Given the description of an element on the screen output the (x, y) to click on. 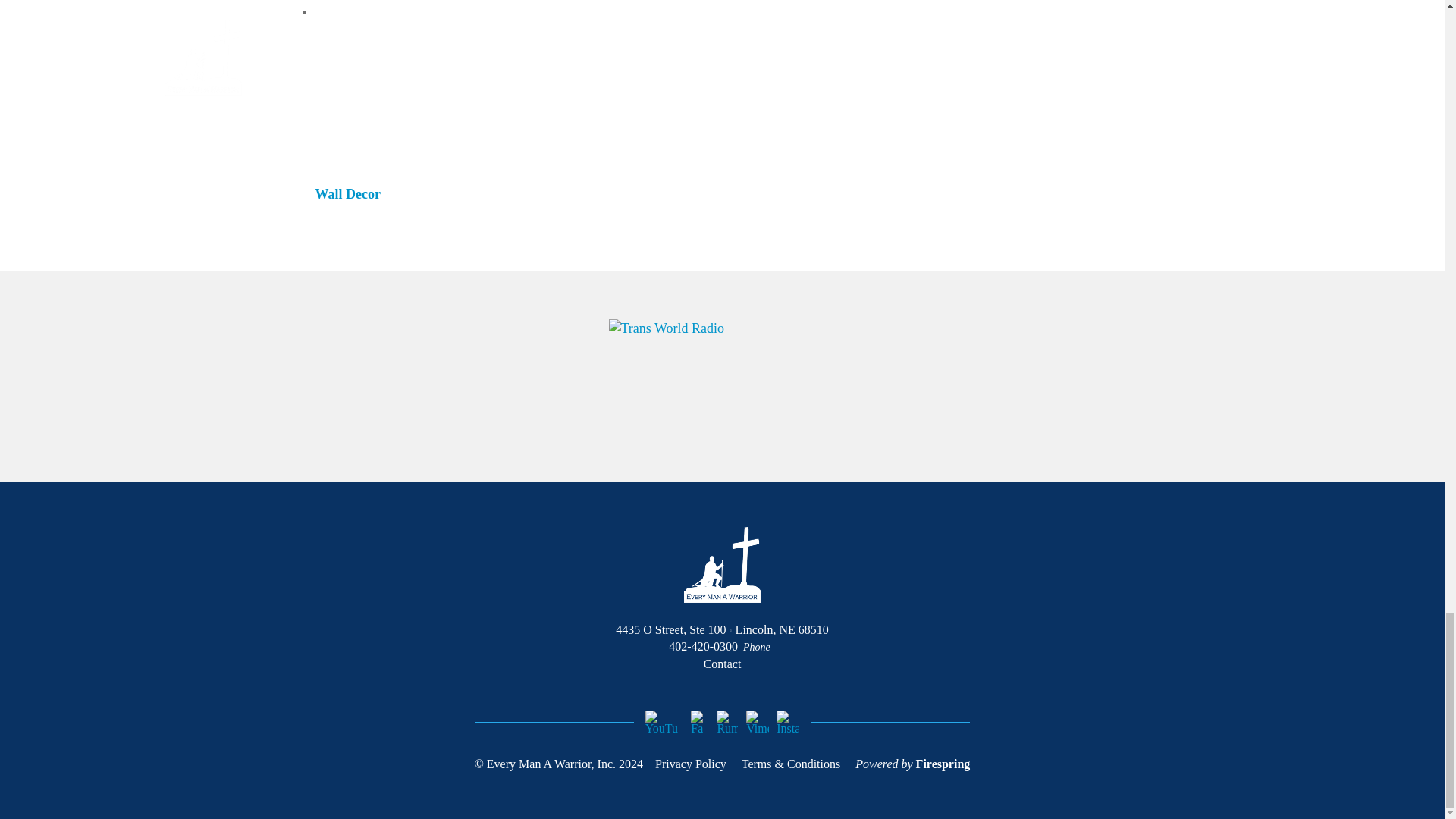
logo (722, 564)
402-420-0300 (703, 645)
Wall Decor (347, 193)
